Given the description of an element on the screen output the (x, y) to click on. 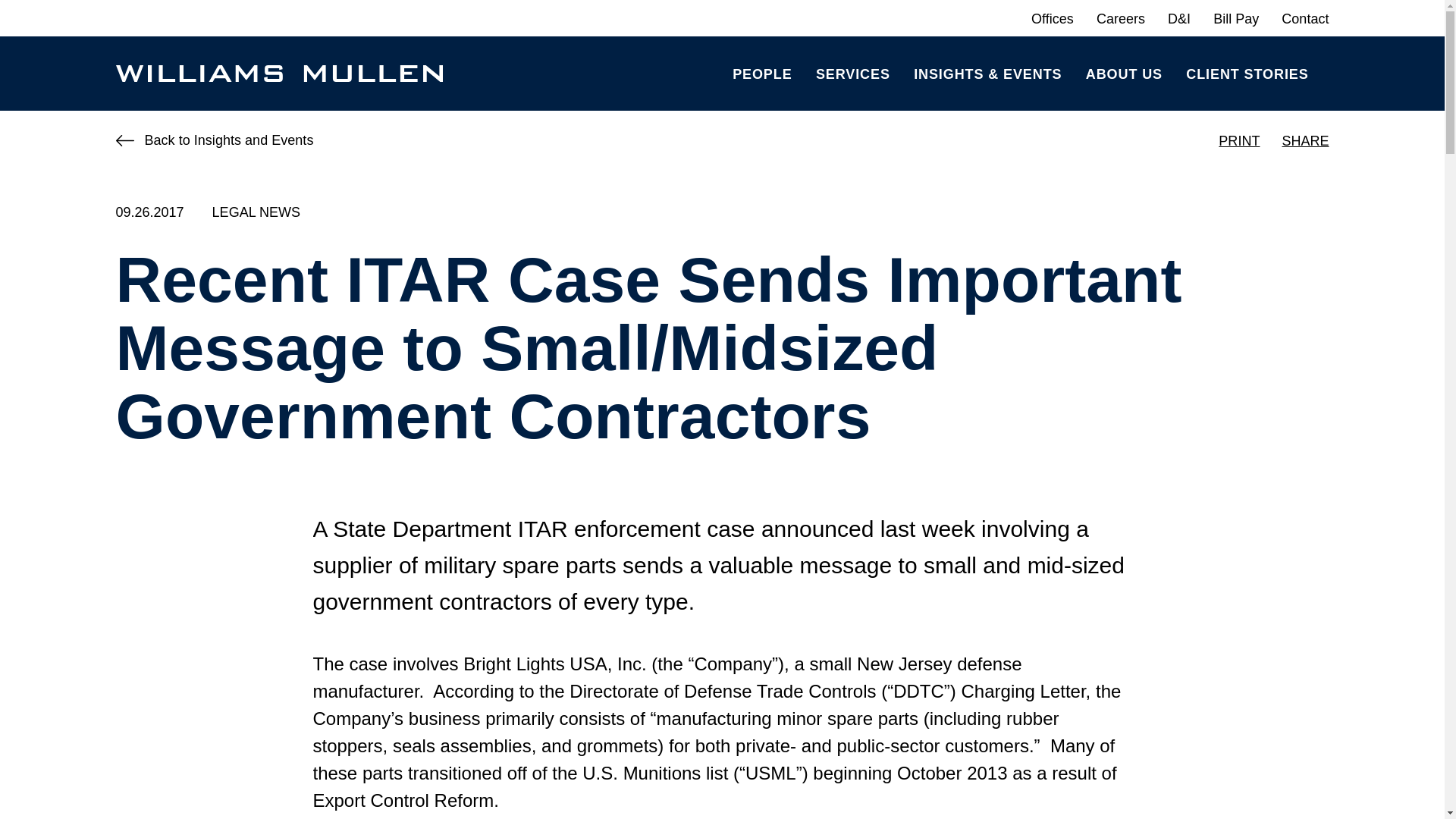
SERVICES (852, 73)
PRINT (1238, 140)
Contact (1304, 18)
CLIENT STORIES (1246, 73)
PEOPLE (762, 73)
Bill Pay (1235, 18)
Back to Insights and Events (214, 140)
Offices (1052, 18)
Careers (1120, 18)
ABOUT US (1123, 73)
